Given the description of an element on the screen output the (x, y) to click on. 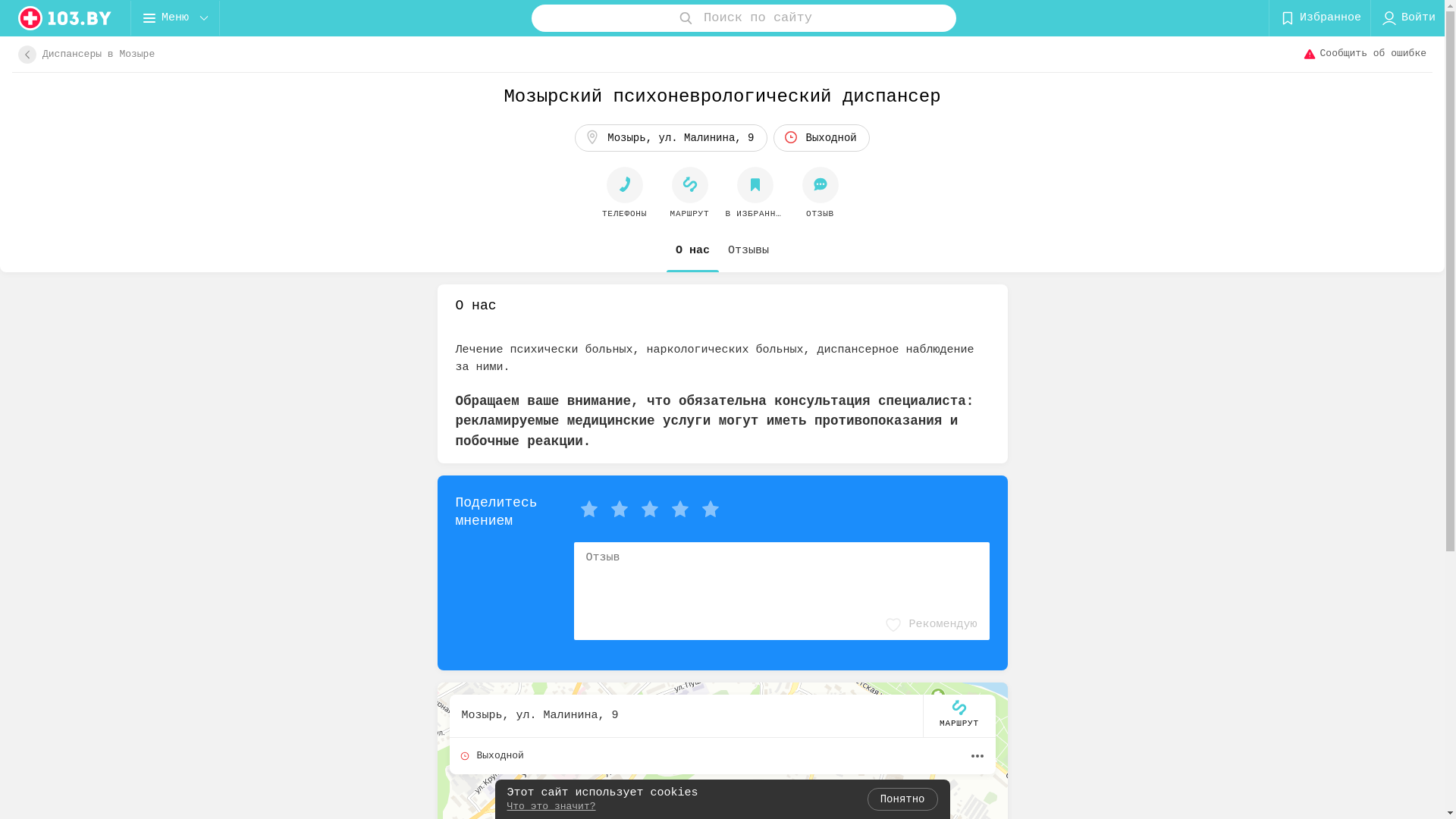
logo Element type: hover (65, 18)
